Given the description of an element on the screen output the (x, y) to click on. 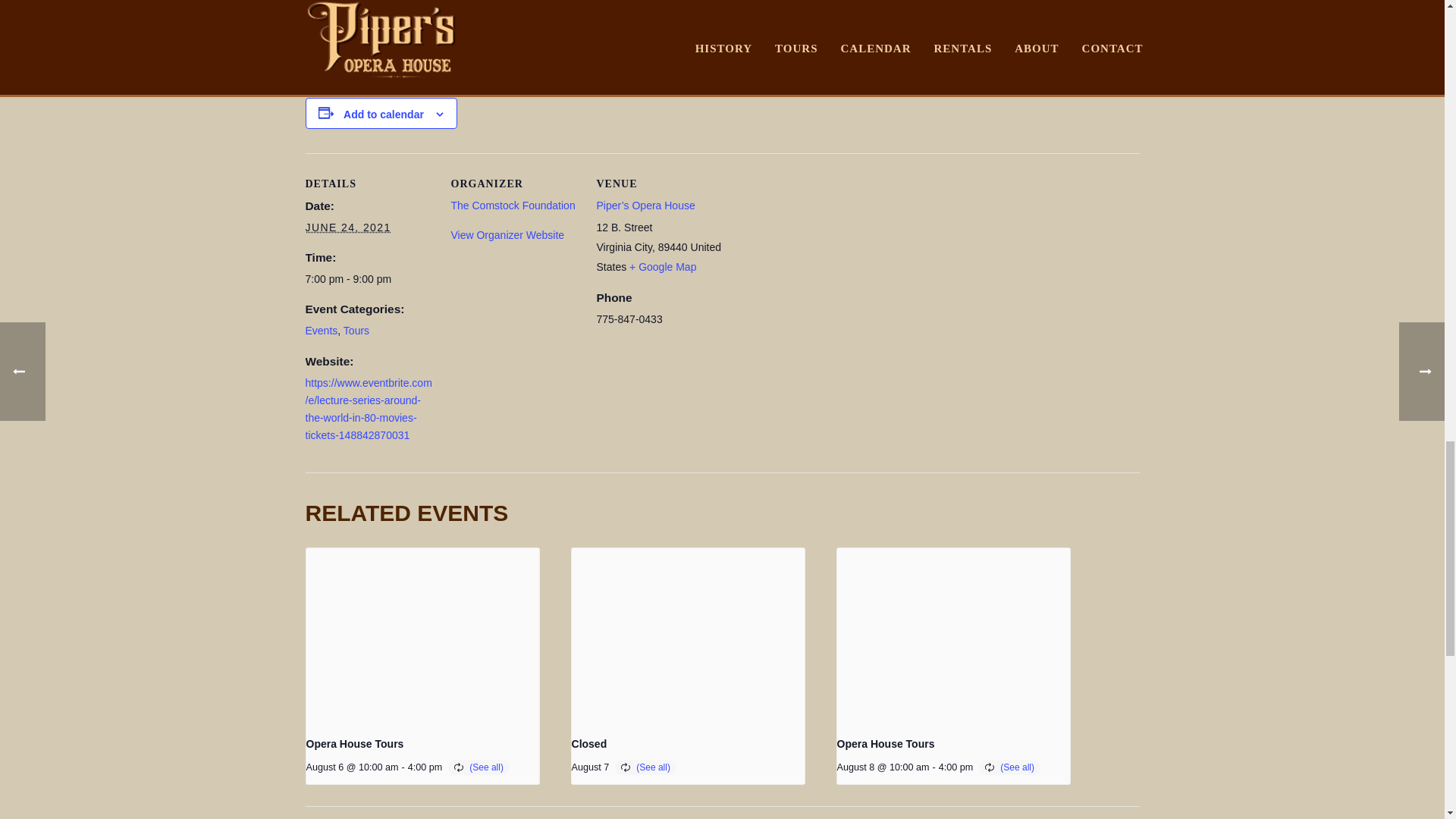
The Comstock Foundation (512, 205)
The Comstock Foundation (512, 205)
2021-06-24 (347, 227)
Events (320, 330)
2021-06-24 (368, 279)
Tours (356, 330)
Add to calendar (383, 114)
Opera House Tours (354, 743)
View Organizer Website (506, 234)
Closed (589, 743)
Click to view a Google Map (661, 266)
